Given the description of an element on the screen output the (x, y) to click on. 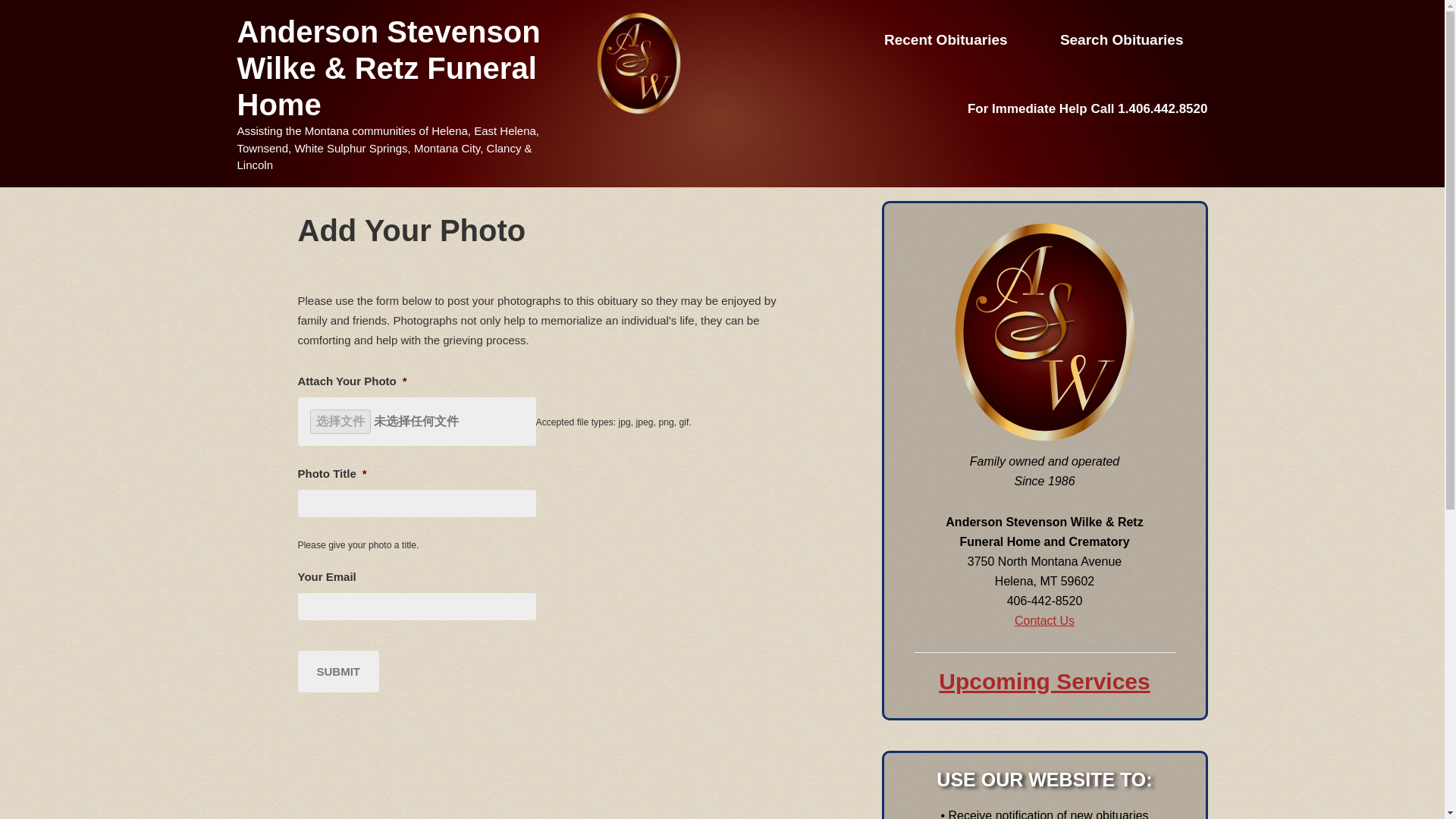
Submit (337, 671)
Recent Obituaries (946, 39)
Contact Us (1044, 620)
Search Obituaries (1121, 39)
Submit (337, 671)
Upcoming Services (1044, 681)
